Given the description of an element on the screen output the (x, y) to click on. 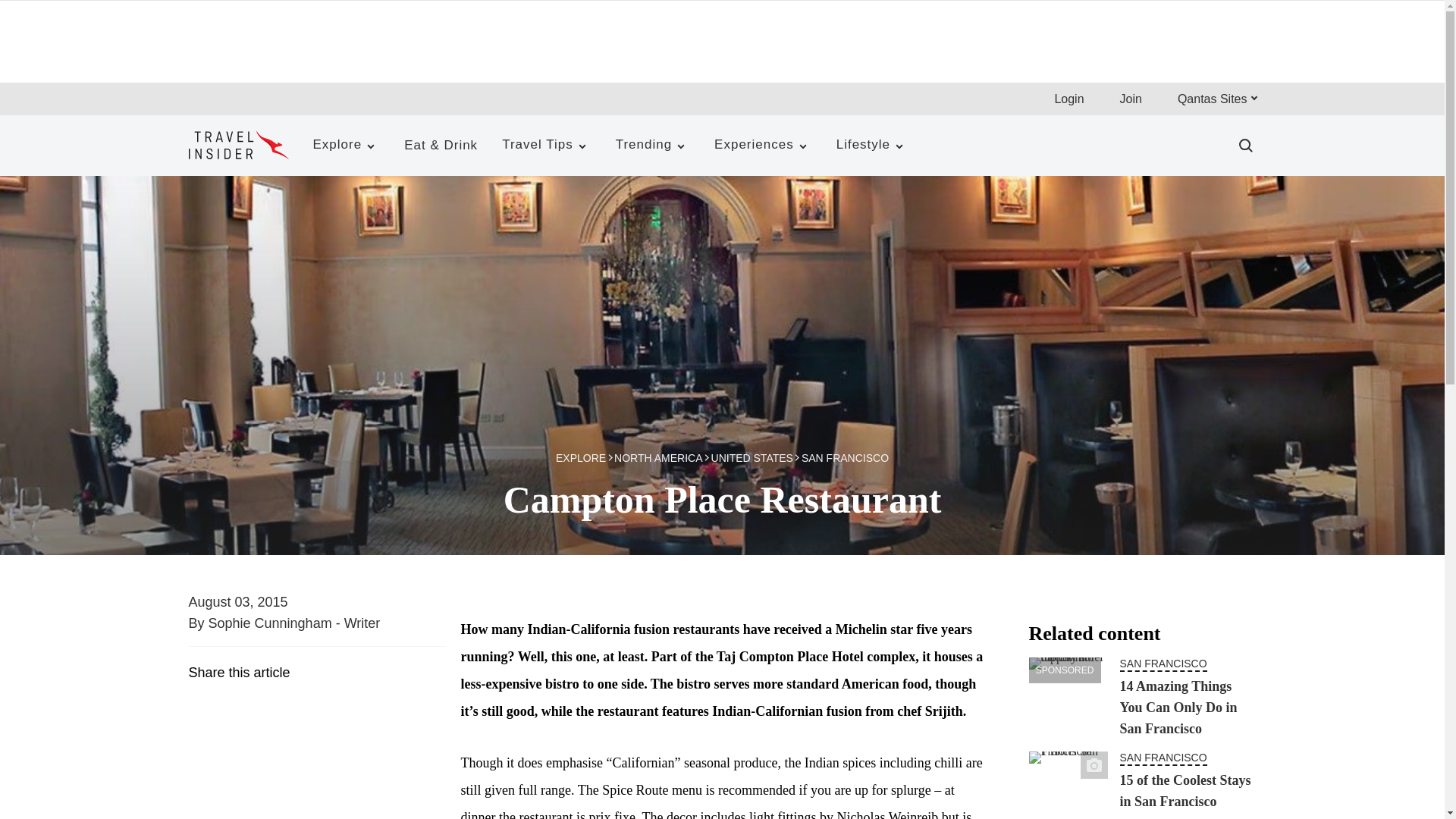
14 Amazing Things You Can Only Do in San Francisco (1177, 707)
15 of the Coolest Stays in San Francisco (1184, 791)
Travel Tips (546, 145)
SAN FRANCISCO (845, 461)
SAN FRANCISCO (1163, 758)
Experiences (762, 145)
Travel Insider (237, 144)
SAN FRANCISCO (1163, 664)
Join (1130, 98)
15 of the Coolest Stays in San Francisco (1066, 785)
Explore (345, 145)
Lifestyle (872, 145)
EXPLORE (585, 463)
Trending (652, 145)
